Given the description of an element on the screen output the (x, y) to click on. 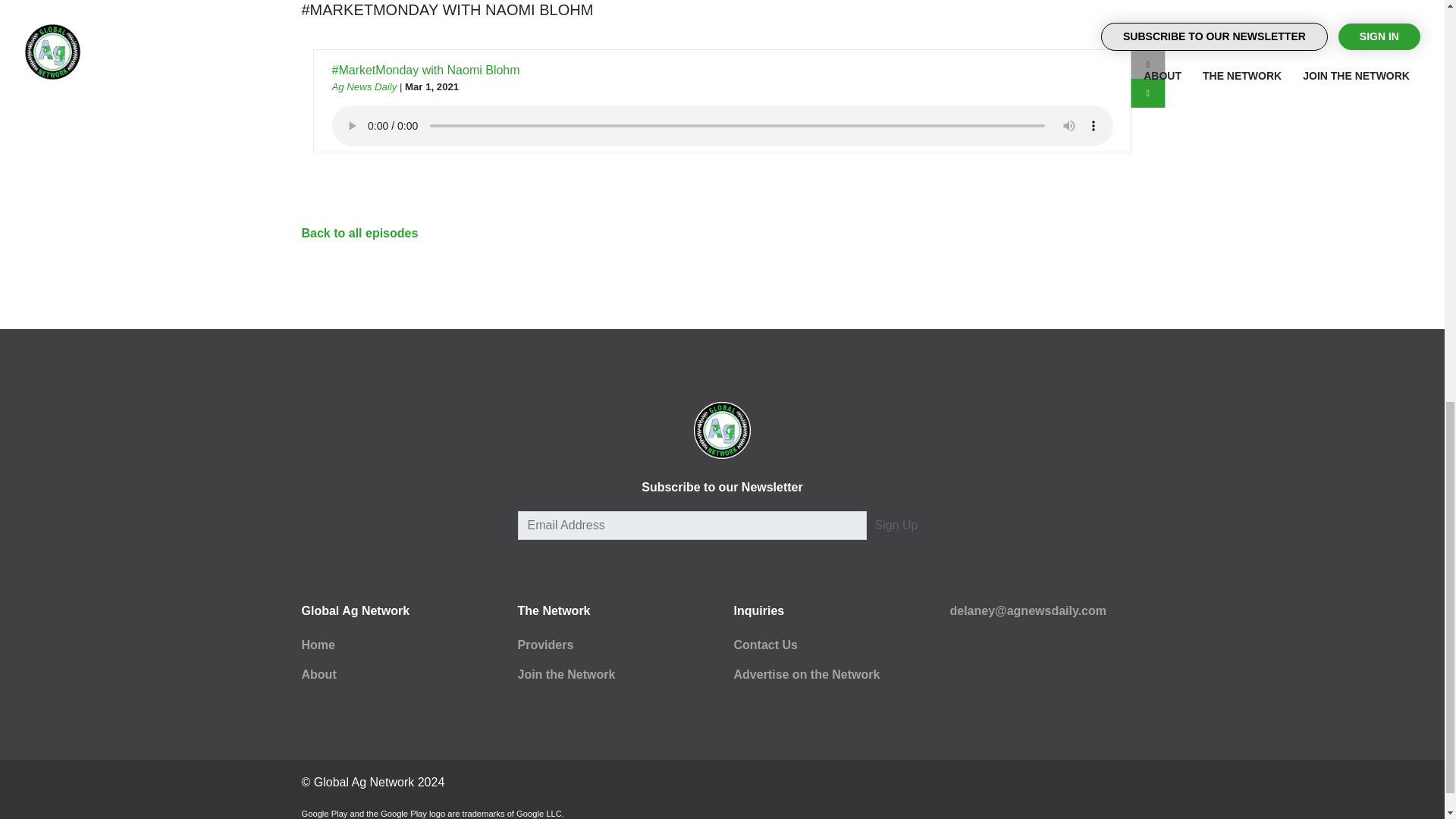
Providers (544, 644)
Home (317, 644)
About (318, 674)
Advertise on the Network (806, 674)
Join the Network (565, 674)
Back to all episodes (360, 232)
Contact Us (765, 644)
Sign Up (896, 525)
Ag News Daily (364, 86)
